Given the description of an element on the screen output the (x, y) to click on. 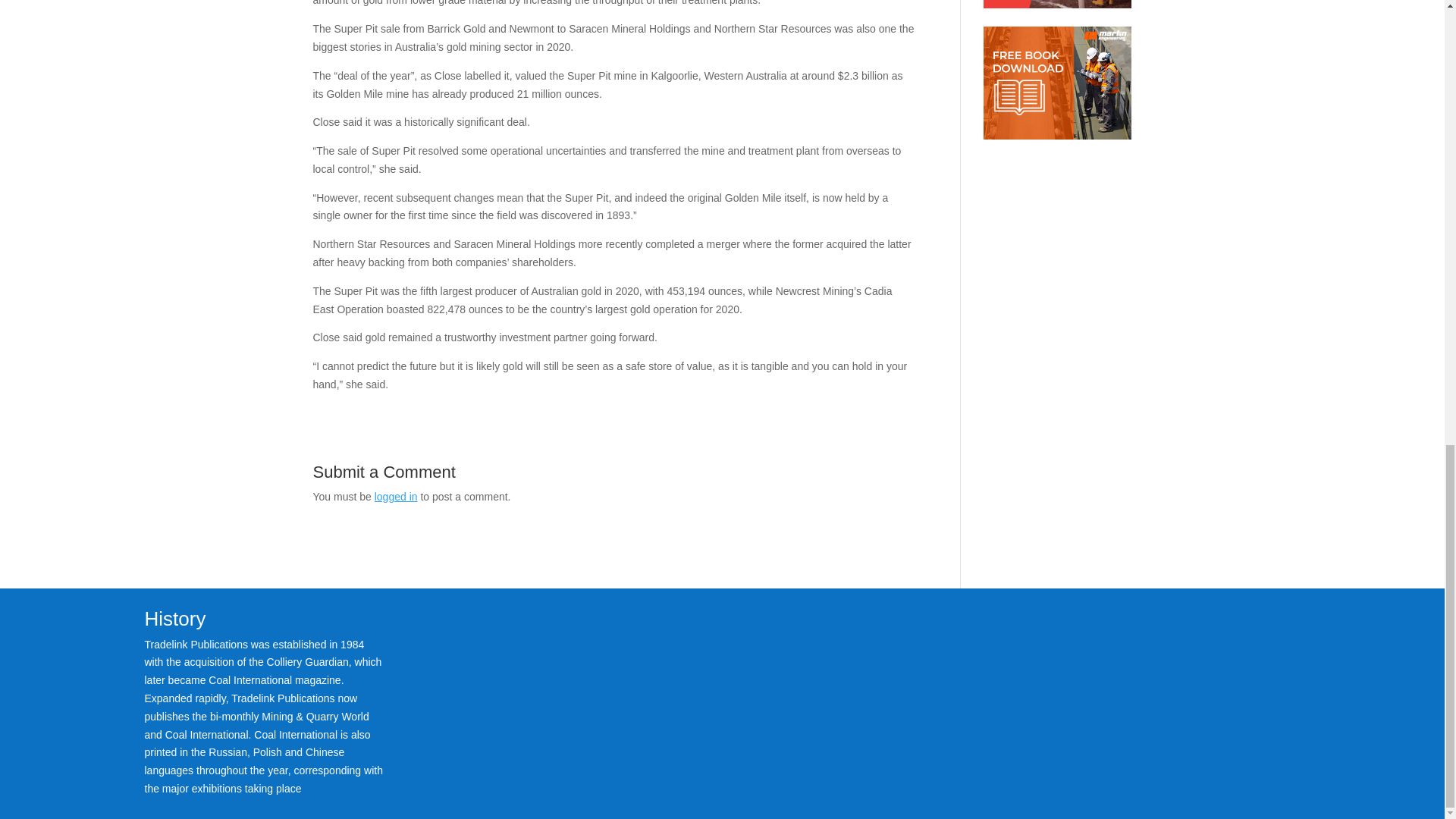
logged in (395, 496)
